Given the description of an element on the screen output the (x, y) to click on. 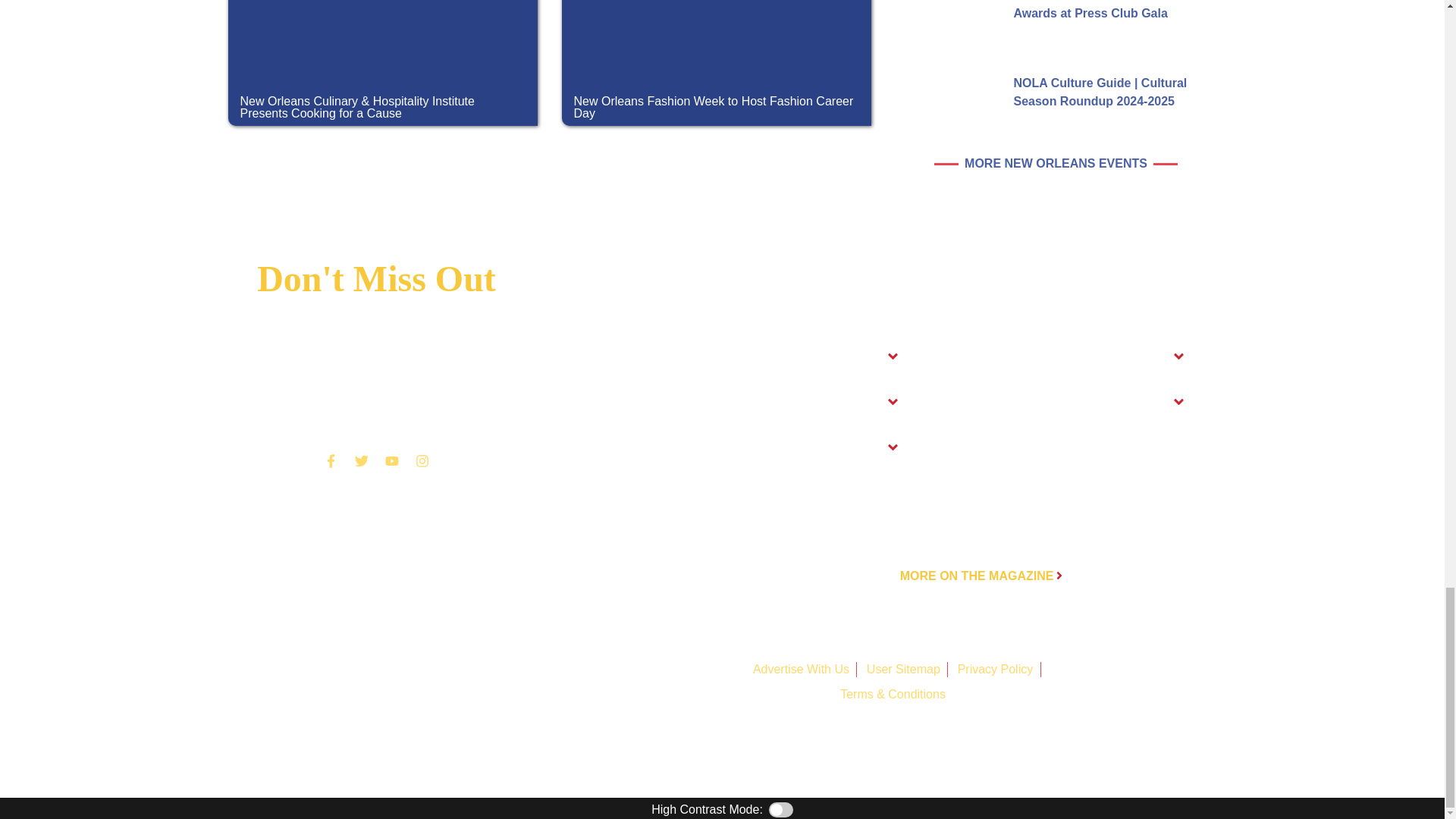
Facebook (330, 460)
YouTube (390, 460)
Instagram (421, 460)
